Given the description of an element on the screen output the (x, y) to click on. 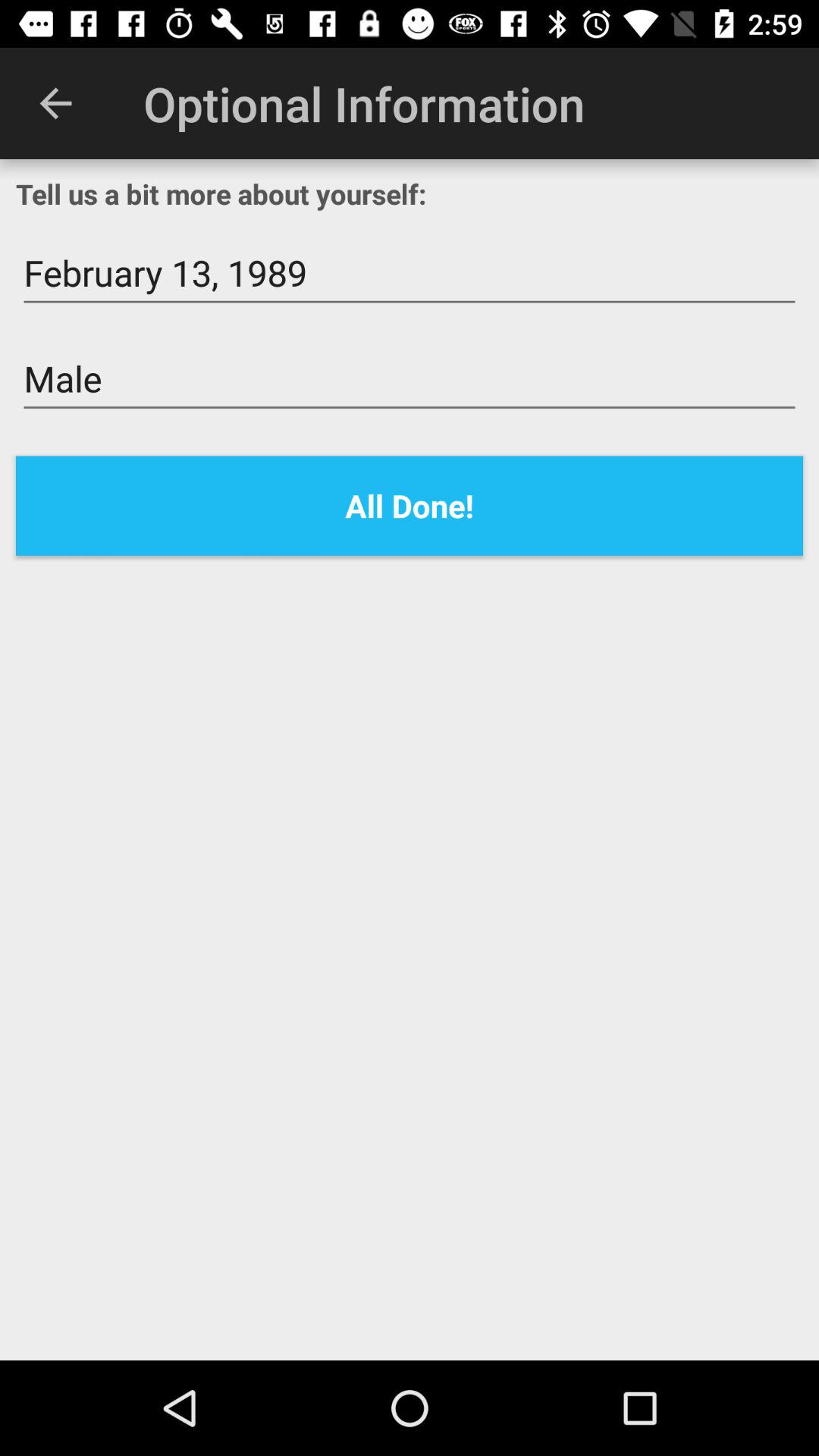
select icon below february 13, 1989 (409, 379)
